Given the description of an element on the screen output the (x, y) to click on. 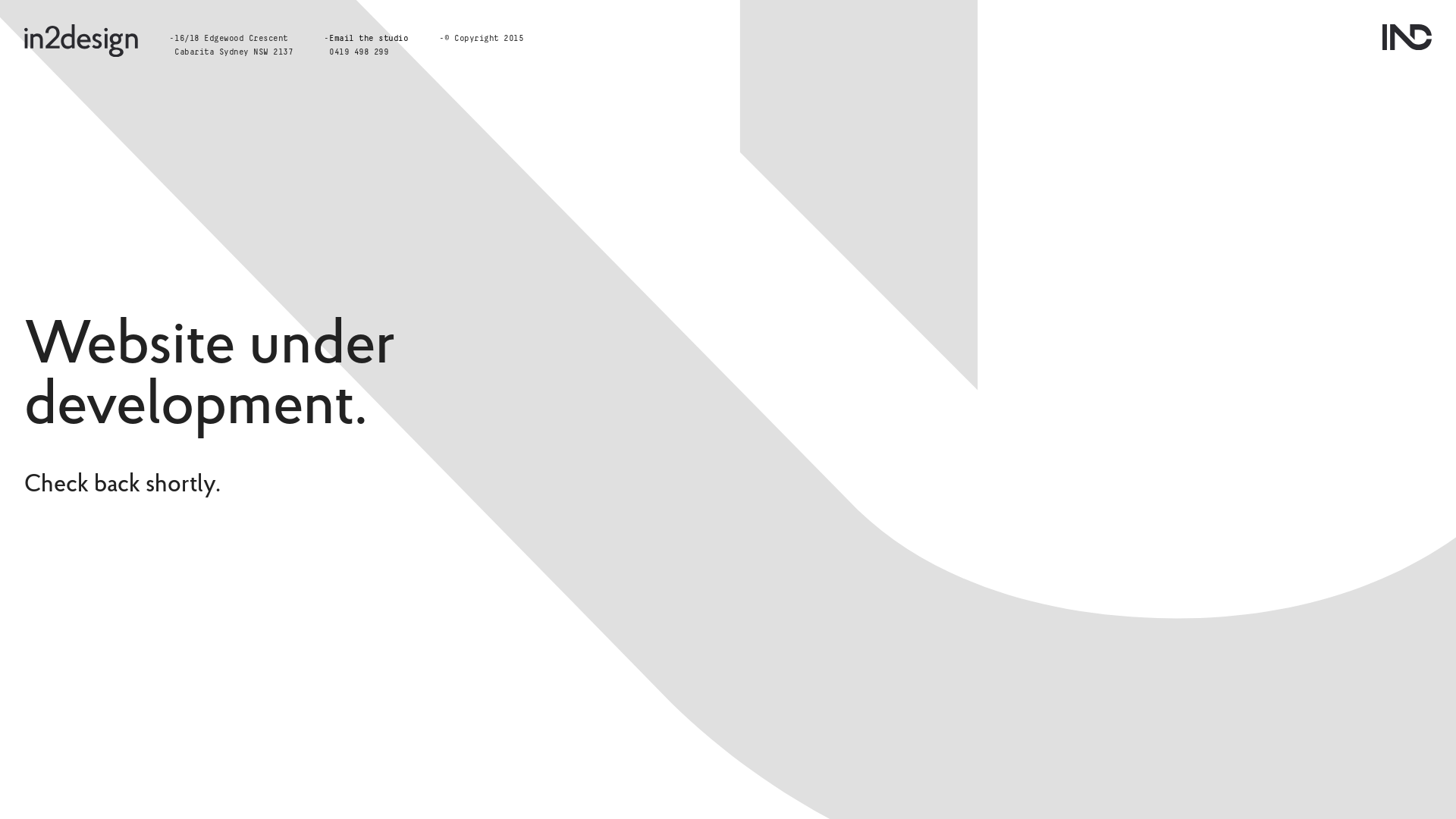
Email the studio Element type: text (368, 38)
